Given the description of an element on the screen output the (x, y) to click on. 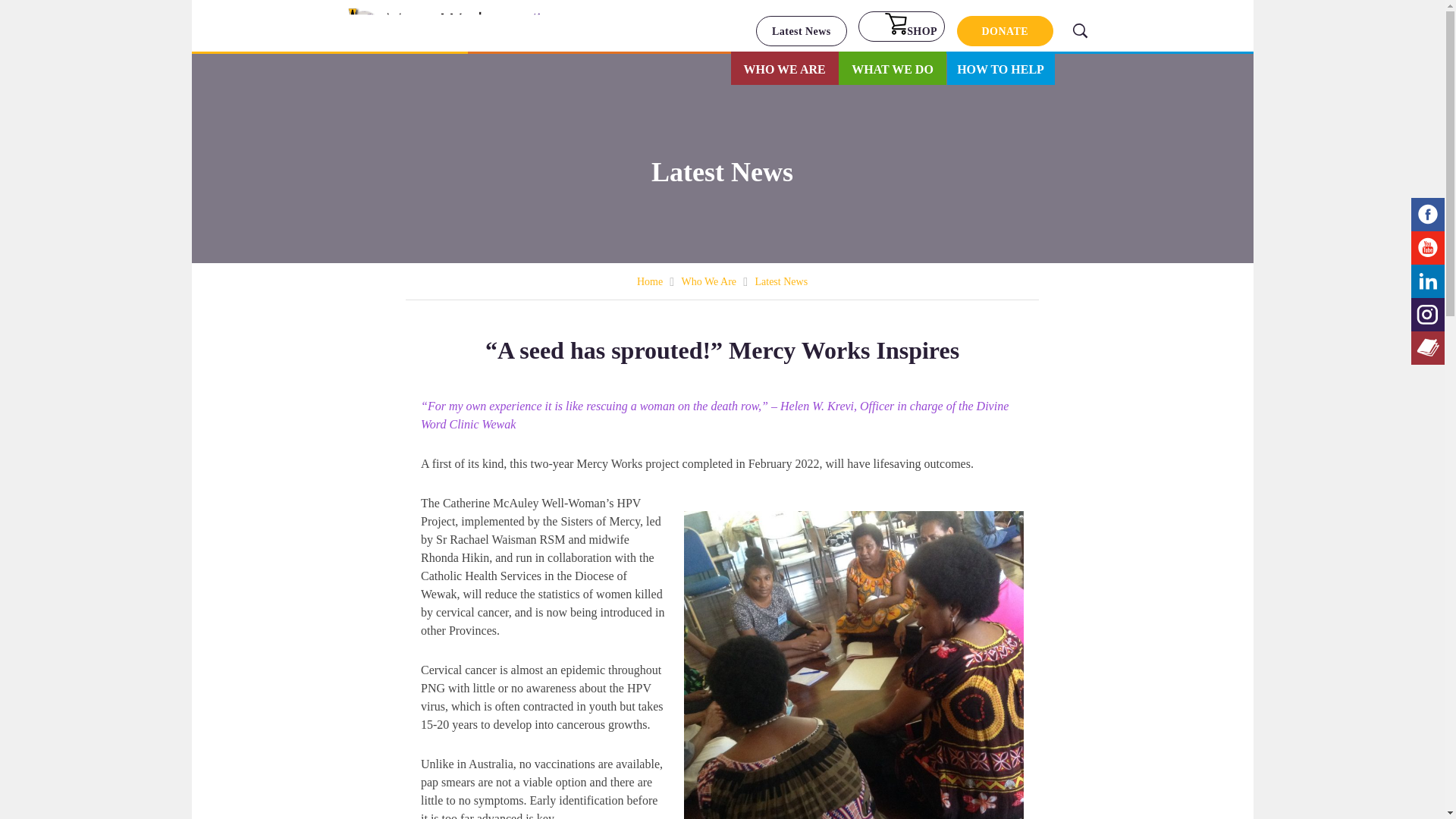
HOW TO HELP (1000, 69)
Latest News (801, 30)
WHO WE ARE (784, 69)
WHAT WE DO (892, 69)
SHOP (901, 26)
DONATE (1005, 30)
